Given the description of an element on the screen output the (x, y) to click on. 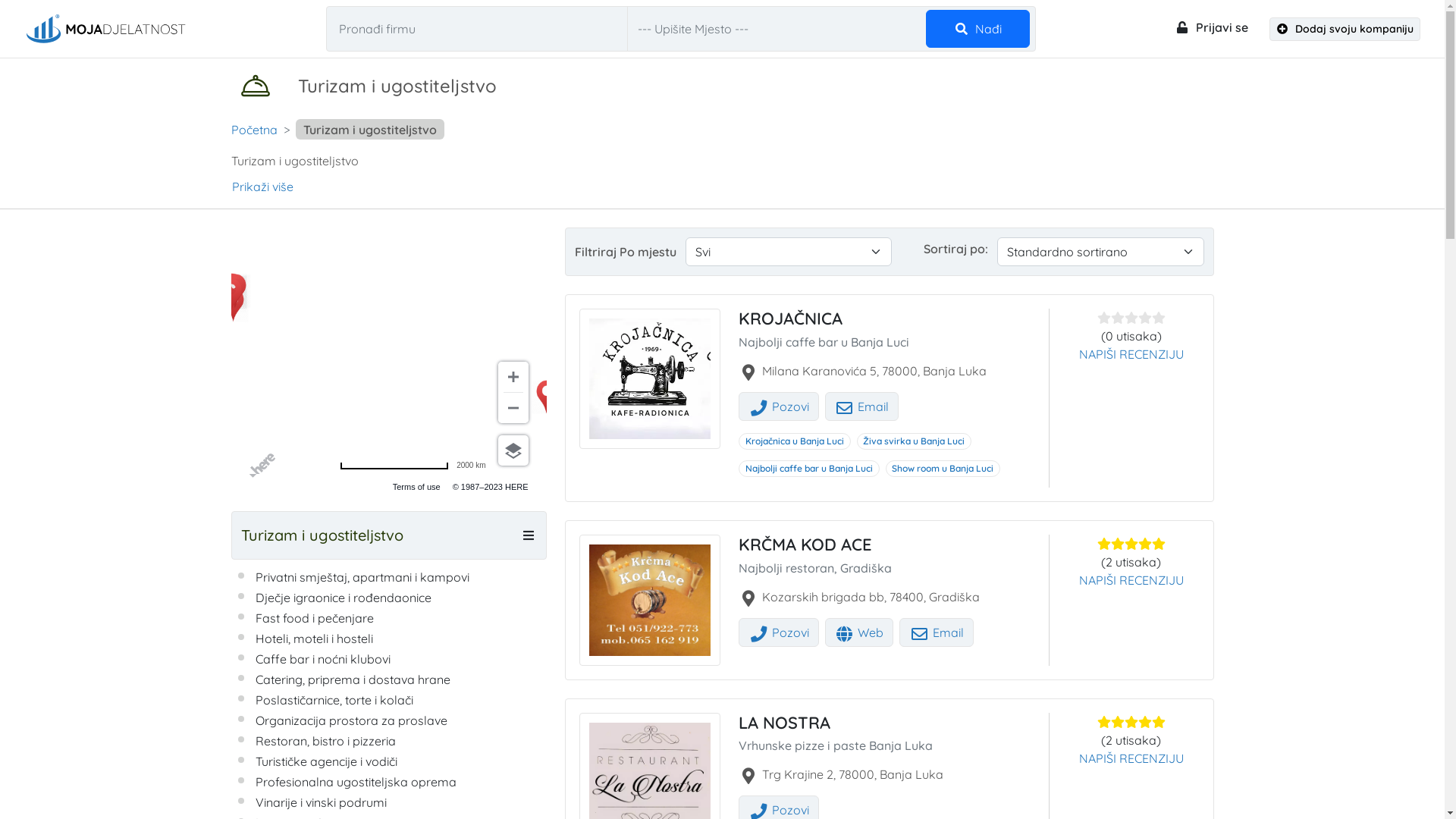
Pozovi Element type: text (778, 406)
Pozovi Element type: text (778, 632)
Terms of use Element type: text (416, 486)
LA NOSTRA Element type: text (784, 722)
Email Element type: text (936, 632)
Hoteli, moteli i hosteli Element type: text (313, 638)
Dodaj svoju kompaniju Element type: text (1345, 28)
Zoom in Element type: hover (512, 376)
Show room u Banja Luci Element type: text (943, 468)
Email Element type: text (862, 406)
Catering, priprema i dostava hrane Element type: text (351, 679)
Organizacija prostora za proslave Element type: text (350, 720)
Vinarije i vinski podrumi Element type: text (319, 801)
Choose view Element type: hover (512, 450)
Zoom out Element type: hover (512, 407)
Profesionalna ugostiteljska oprema Element type: text (354, 781)
Najbolji caffe bar u Banja Luci Element type: text (808, 468)
Turizam i ugostiteljstvo Element type: text (366, 535)
Prijavi se Element type: text (1210, 26)
Najbolji caffe bar u Banja Luci Element type: text (823, 341)
Vrhunske pizze i paste Banja Luka Element type: text (835, 745)
Restoran, bistro i pizzeria Element type: text (324, 740)
Web Element type: text (859, 632)
